Given the description of an element on the screen output the (x, y) to click on. 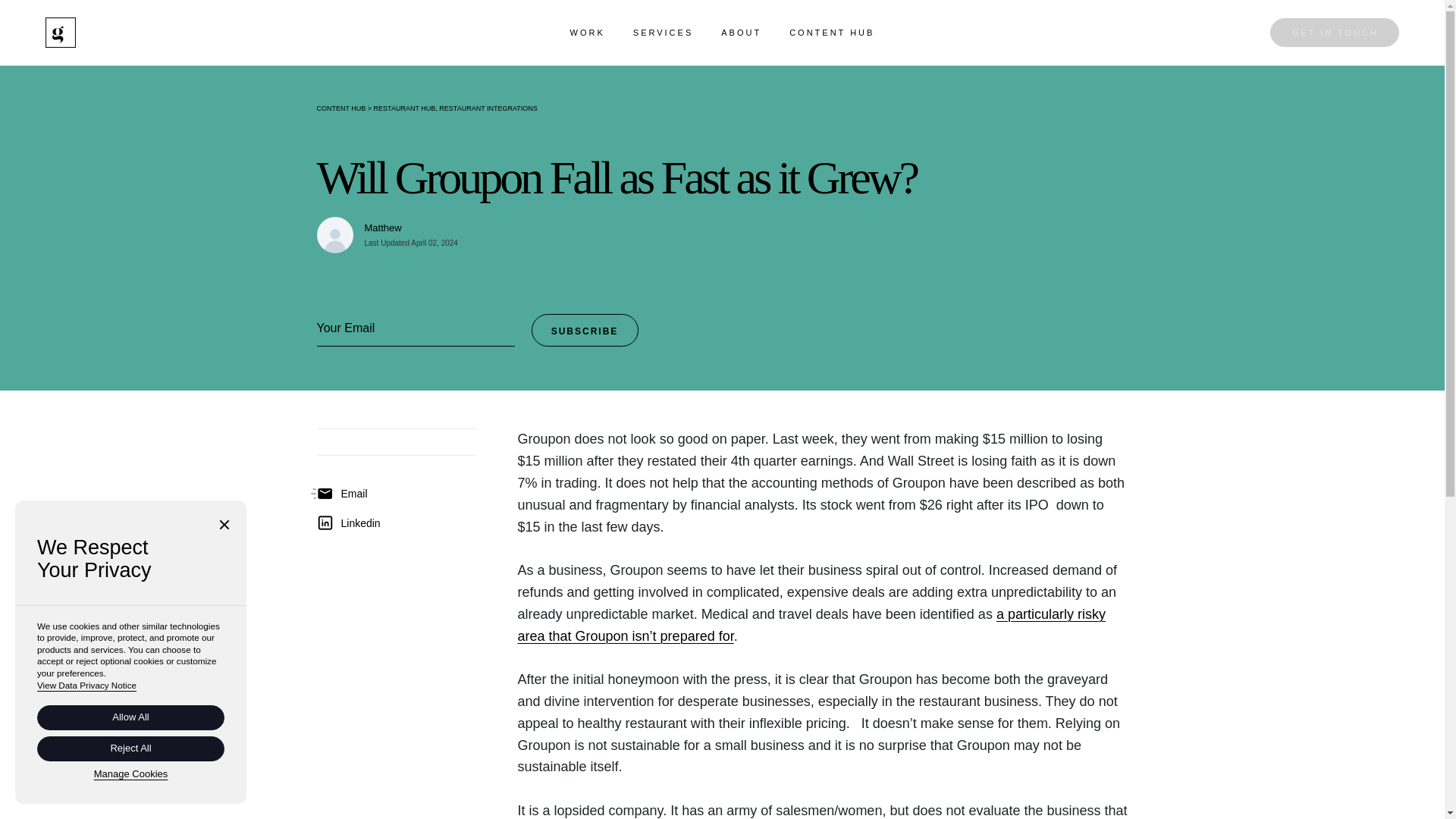
CONTENT HUB (341, 108)
Subscribe (584, 329)
Linkedin (348, 522)
CONTENT HUB (832, 31)
GET IN TOUCH (1334, 32)
ABOUT (740, 31)
Email (342, 493)
SERVICES (663, 31)
RESTAURANT HUB (404, 108)
Subscribe (584, 329)
